Given the description of an element on the screen output the (x, y) to click on. 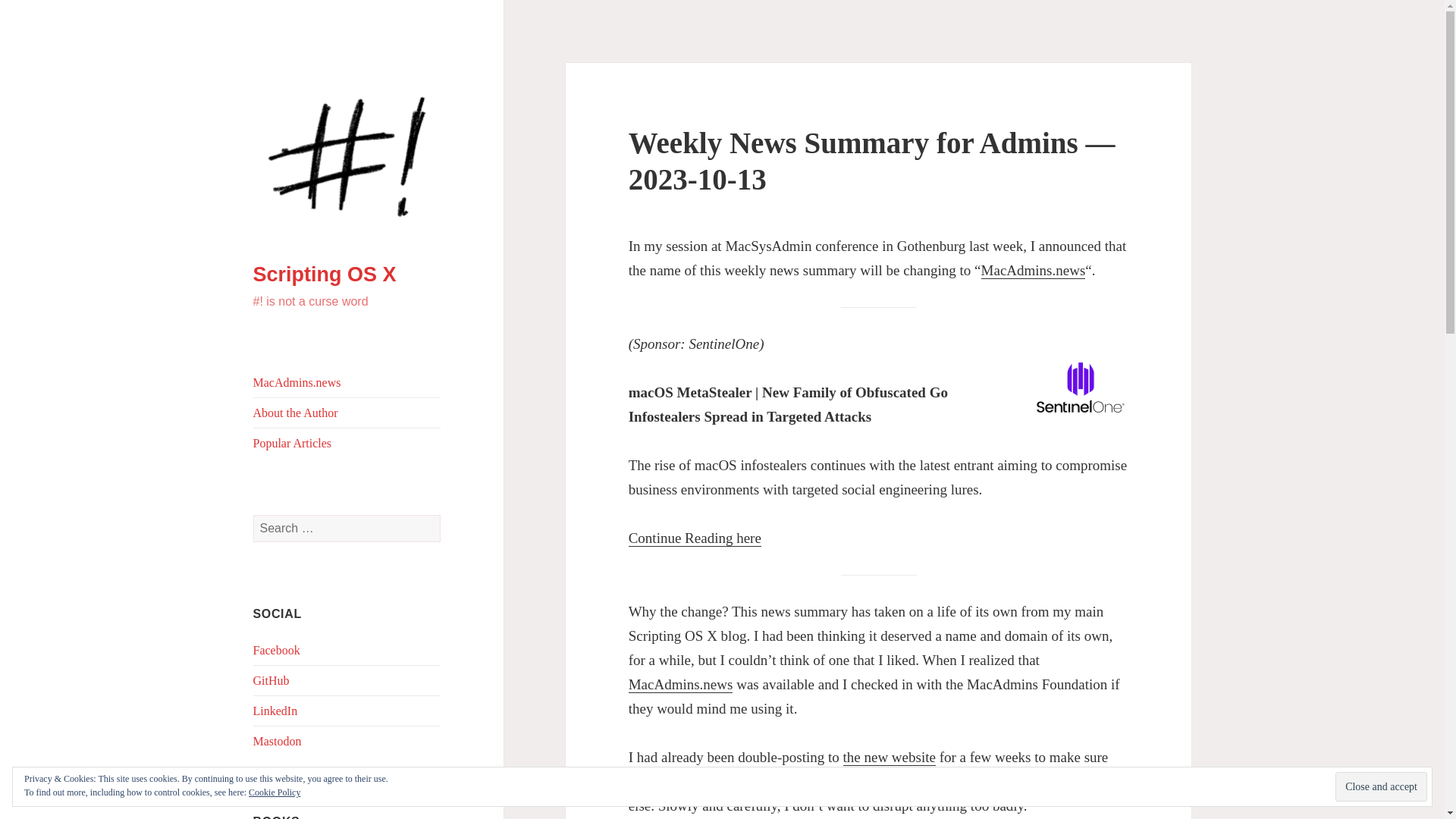
Popular Articles (292, 442)
MacAdmins.news (296, 382)
Scripting OS X on Facebook (276, 649)
Scripting OS X (324, 273)
Scripting OS X on Mastodon (277, 740)
GitHub profile (271, 680)
the new website (889, 757)
